Given the description of an element on the screen output the (x, y) to click on. 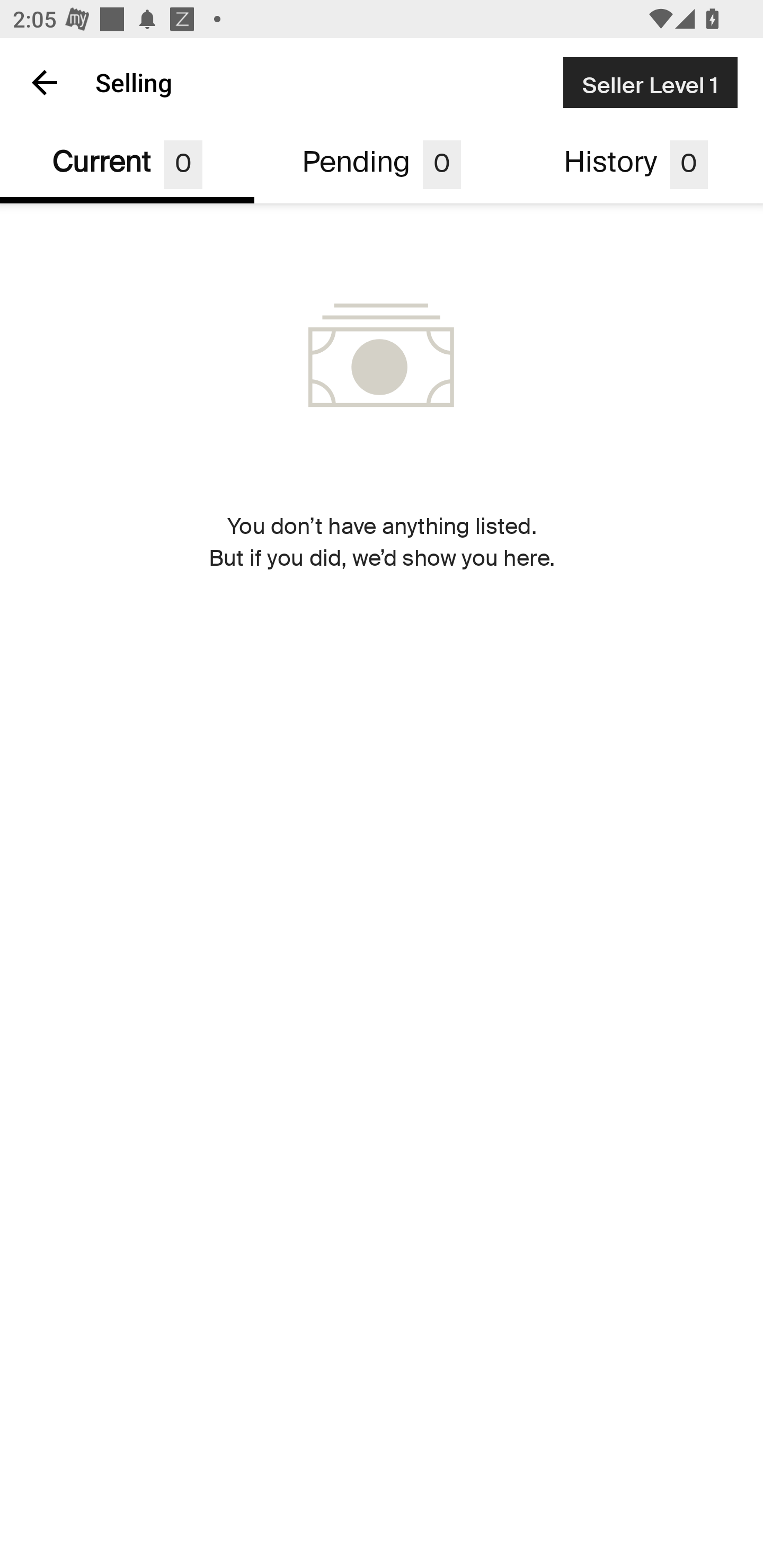
Navigate up (44, 82)
Seller Level 1 (650, 82)
Pending 0 (381, 165)
History 0 (635, 165)
